Given the description of an element on the screen output the (x, y) to click on. 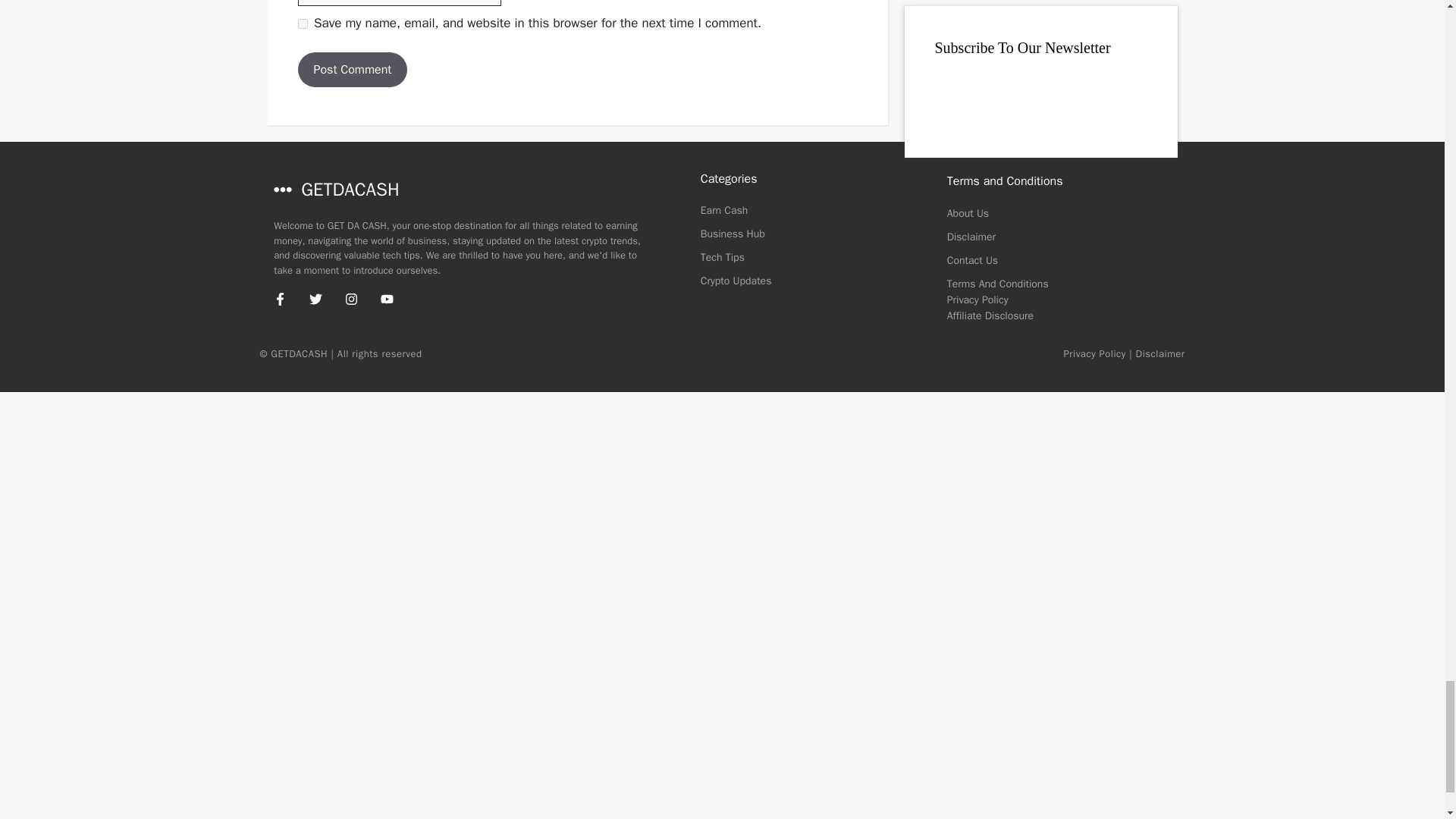
Post Comment (352, 69)
yes (302, 23)
Post Comment (352, 69)
